Given the description of an element on the screen output the (x, y) to click on. 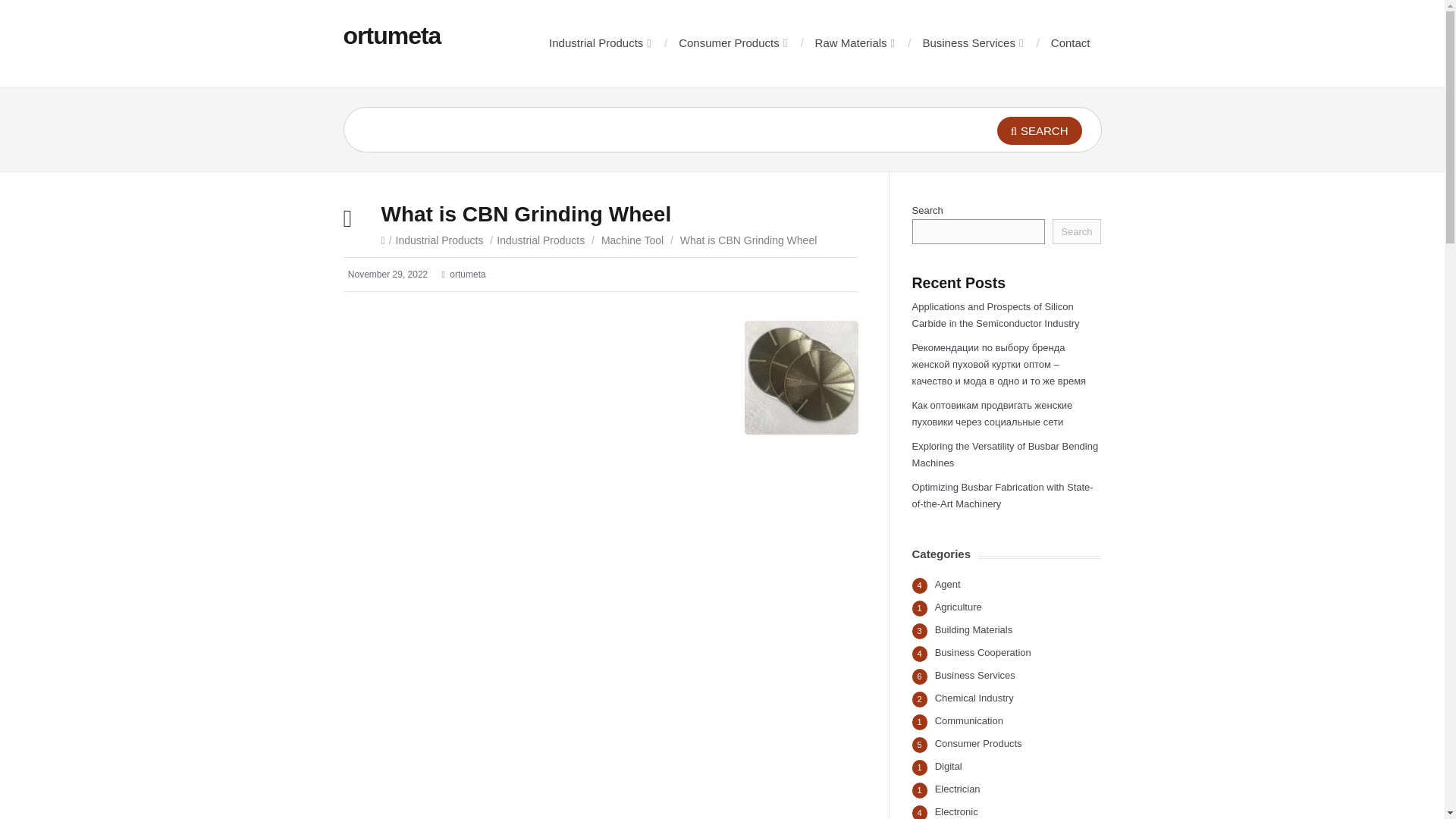
ortumeta (391, 35)
Industrial Products (598, 42)
ortumeta (391, 35)
View all posts in Industrial Products (439, 240)
